Given the description of an element on the screen output the (x, y) to click on. 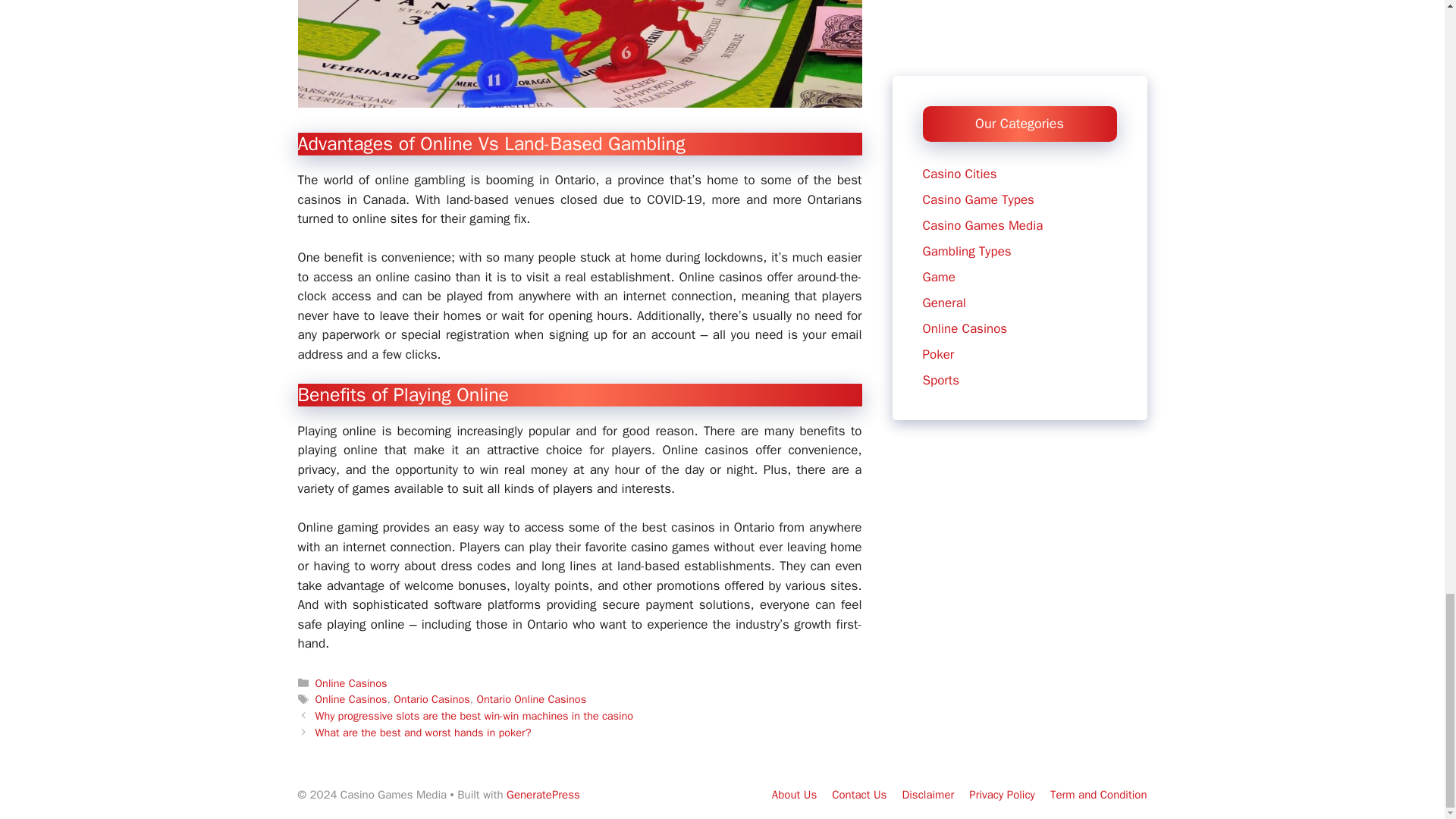
Online Casinos (351, 698)
anywhere with an internet connection (625, 295)
Contact Us (858, 794)
Disclaimer (927, 794)
Ontario Casinos (431, 698)
What are the best and worst hands in poker? (423, 732)
About Us (793, 794)
Online Casinos (351, 683)
Privacy Policy (1002, 794)
Term and Condition (1098, 794)
Ontario Online Casinos (531, 698)
